Given the description of an element on the screen output the (x, y) to click on. 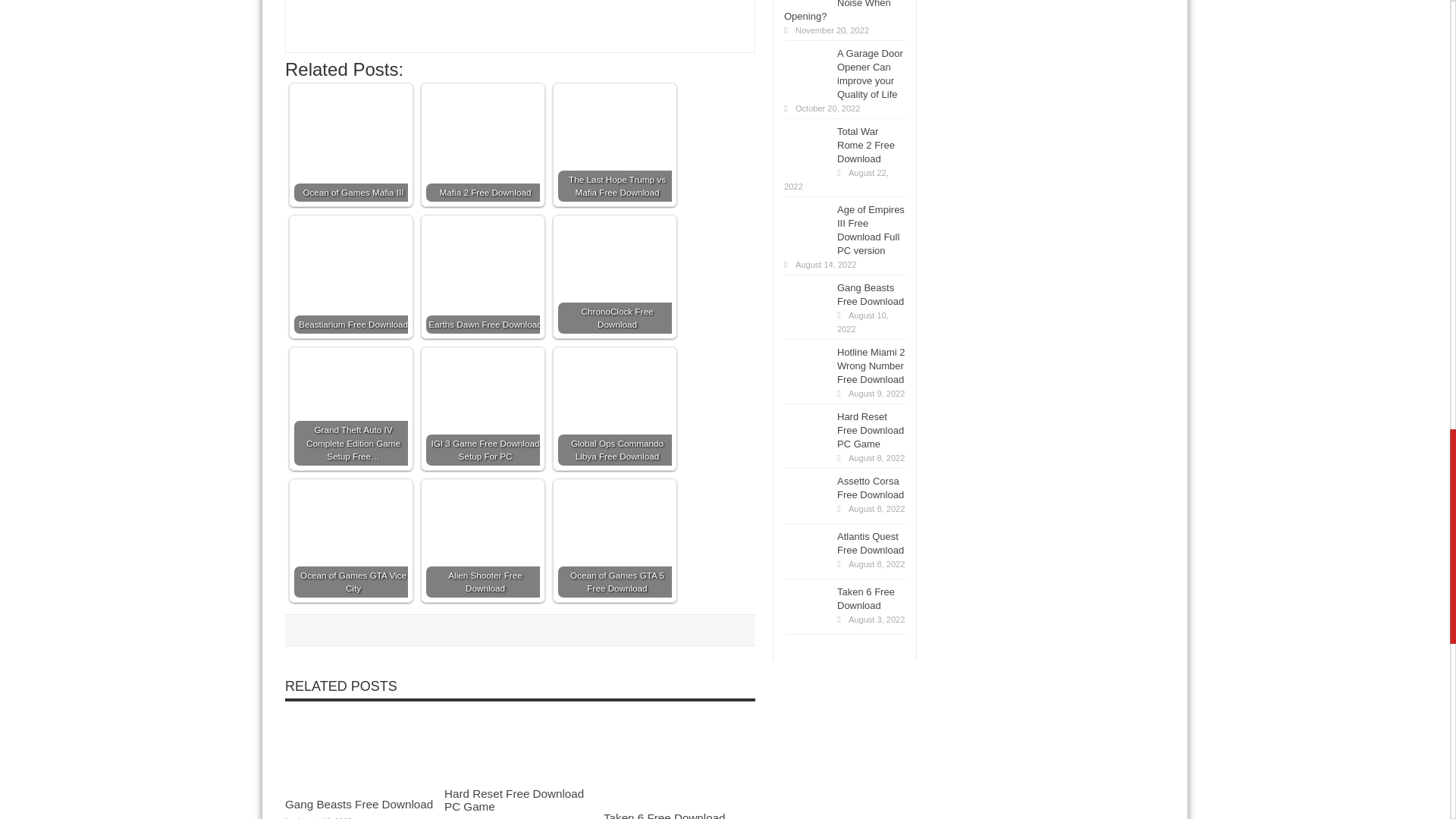
The Last Hope Trump vs Mafia Free Download (614, 144)
IGI 3 Game Free Download Setup For PC (483, 389)
Ocean of Games GTA 5 Free Download (614, 527)
ChronoClock Free Download (614, 276)
Global Ops Commando Libya Free Download (614, 409)
Mafia 2 Free Download (483, 119)
Alien Shooter Free Download (483, 526)
Ocean of Games GTA Vice City (350, 507)
Beastiarium Free Download (350, 262)
Mafia 2 Free Download (483, 144)
